Given the description of an element on the screen output the (x, y) to click on. 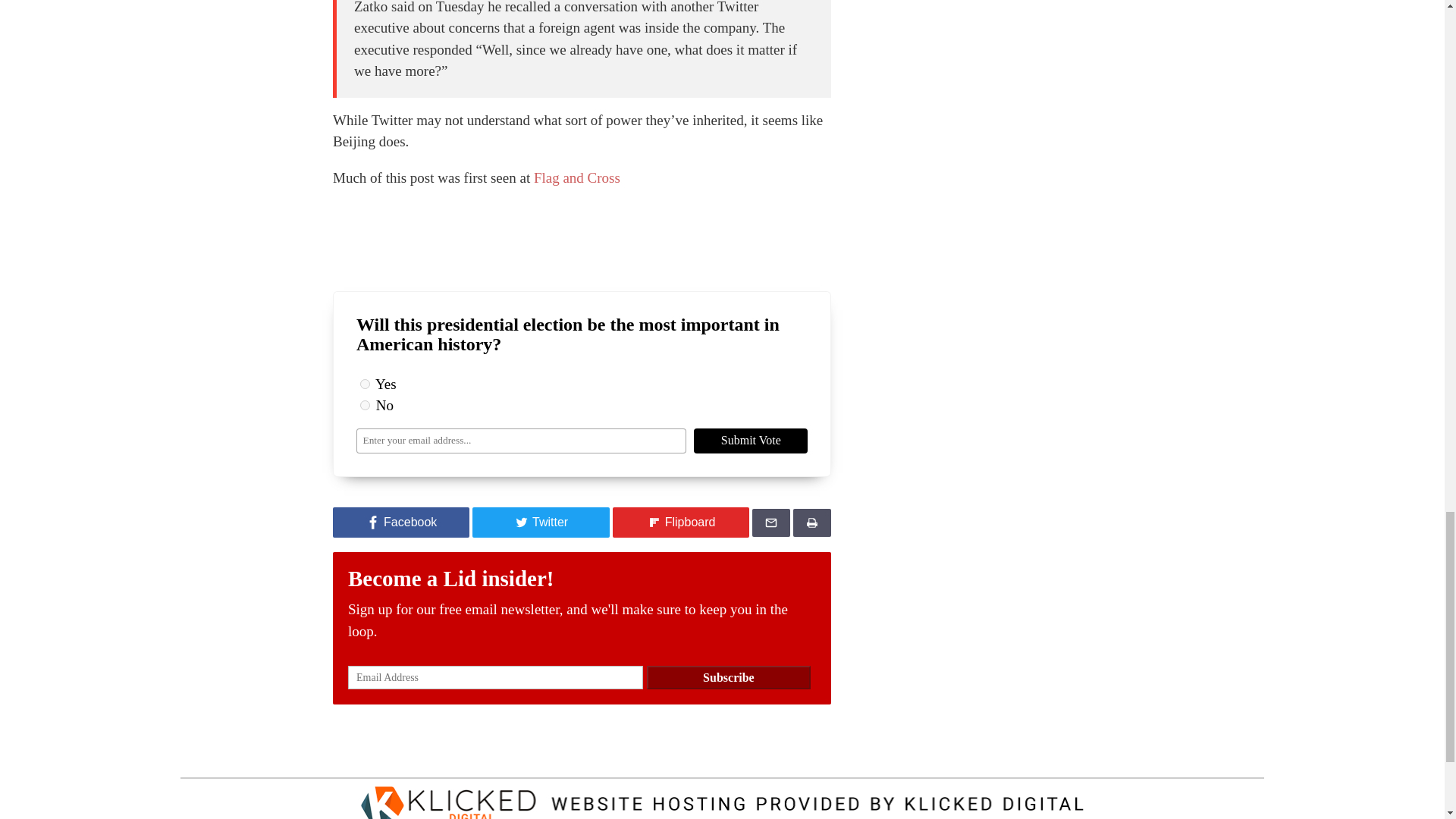
29 (364, 384)
30 (364, 405)
